Given the description of an element on the screen output the (x, y) to click on. 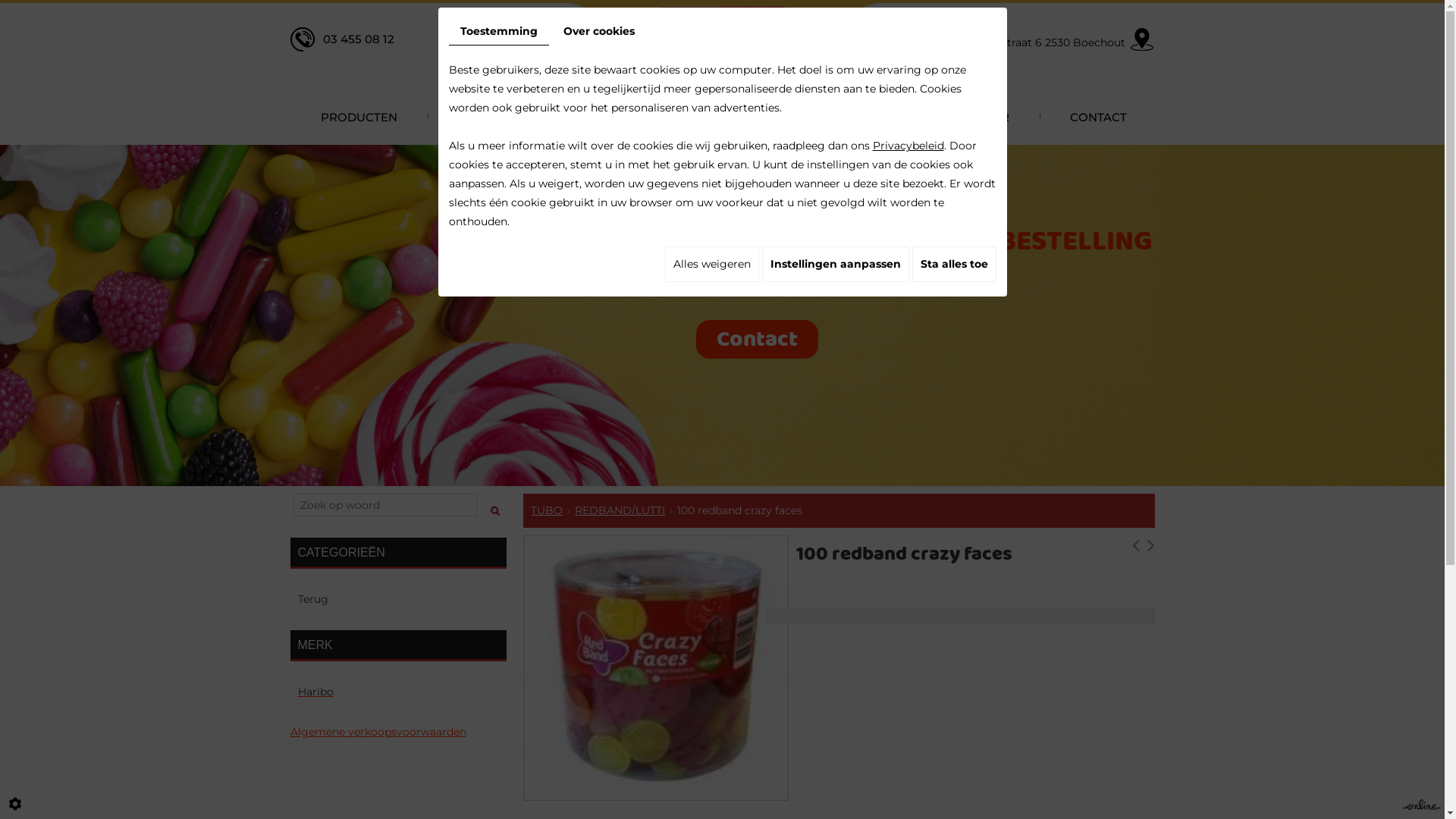
Zoeken Element type: text (495, 504)
Instellingen aanpassen Element type: text (834, 264)
Toestemming Element type: text (498, 31)
Vorig Element type: text (1135, 548)
Haribo Element type: text (397, 691)
Contact Element type: text (757, 339)
Confi Mix Element type: hover (721, 40)
HOME Element type: text (476, 115)
Over cookies Element type: text (599, 31)
Cookie-instelling bewerken Element type: text (14, 803)
Alles weigeren Element type: text (711, 264)
PROMOTIES Element type: text (750, 115)
Terug Element type: text (397, 599)
REDBAND/LUTTI Element type: text (619, 510)
Privacybeleid Element type: text (907, 145)
Volgend Element type: text (1150, 548)
CONTACT Element type: text (1096, 115)
Algemene verkoopsvoorwaarden Element type: text (377, 731)
Sta alles toe Element type: text (953, 264)
MERK Element type: text (397, 645)
TUBO Element type: text (546, 510)
PRODUCTEN Element type: text (357, 115)
NIEUWIGHEDEN Element type: text (604, 115)
FOLDER Element type: text (984, 115)
